Given the description of an element on the screen output the (x, y) to click on. 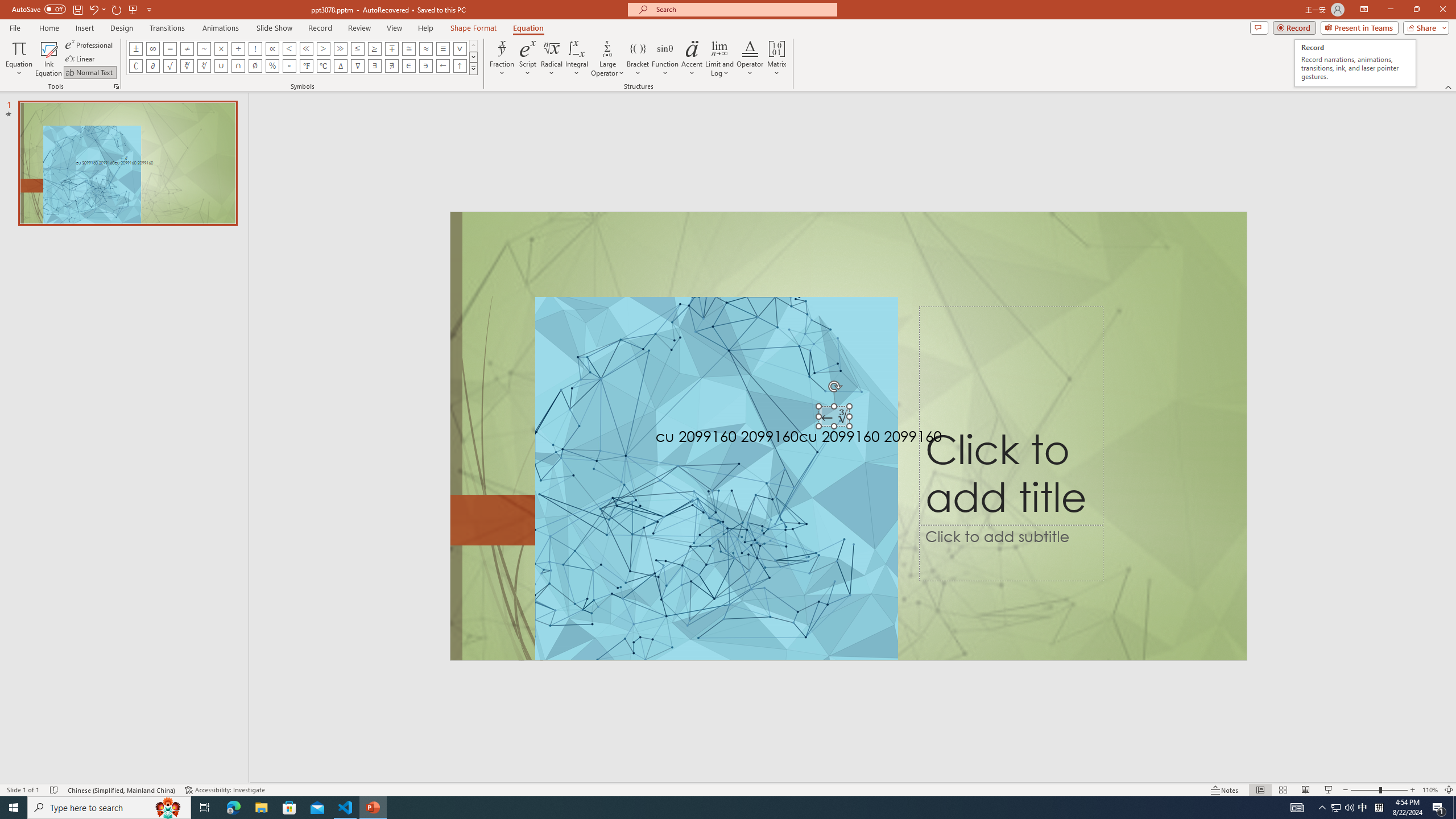
Equation Symbol Almost Equal To (Asymptotic To) (425, 48)
Equation Symbol Union (221, 65)
Zoom 110% (1430, 790)
Equation Symbol Left Arrow (442, 65)
Equation Symbol Percentage (272, 65)
Equation Symbol Less Than or Equal To (357, 48)
Radical (552, 58)
Matrix (776, 58)
